Given the description of an element on the screen output the (x, y) to click on. 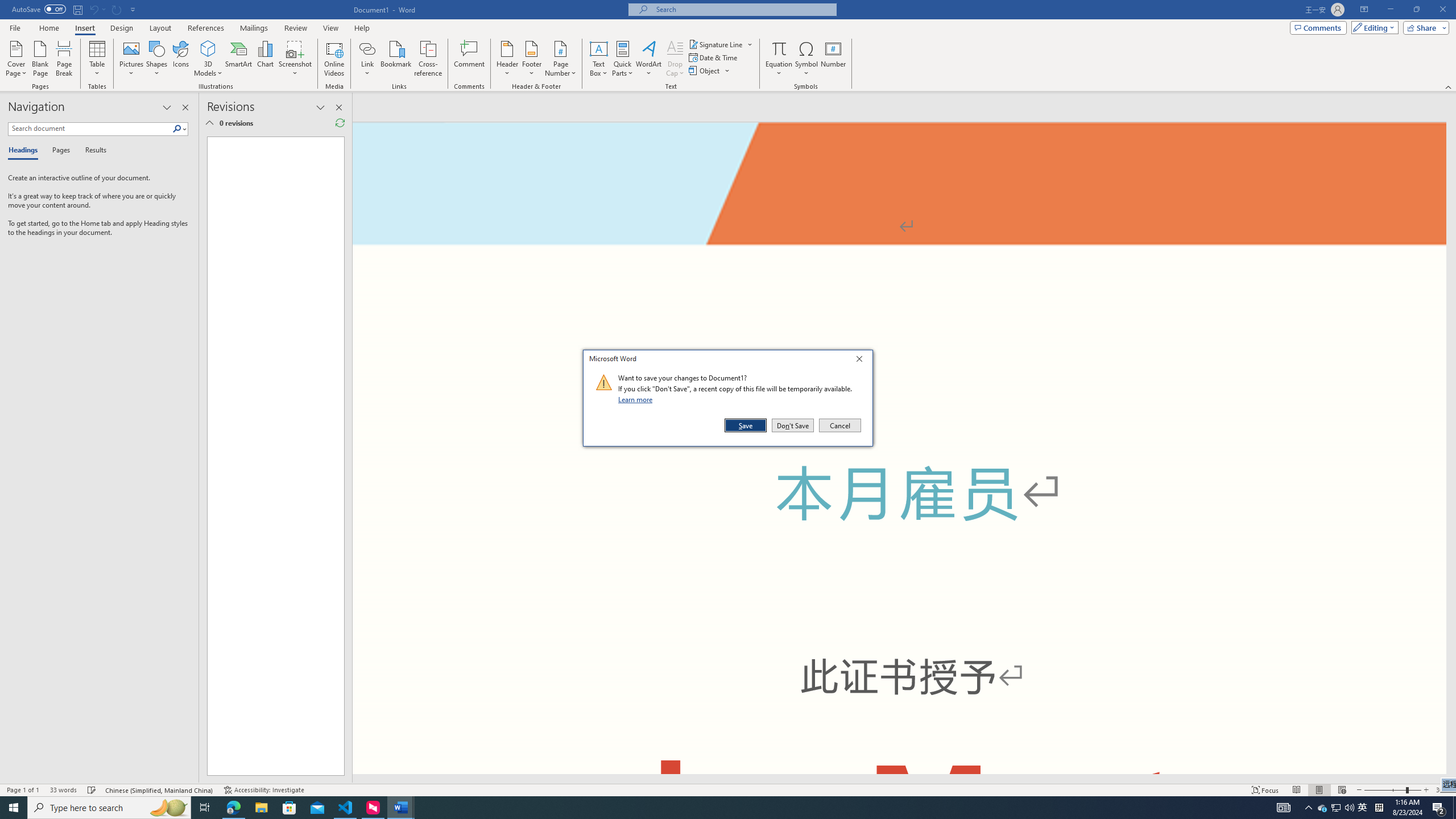
Can't Repeat (117, 9)
Object... (709, 69)
Can't Undo (96, 9)
Blank Page (40, 58)
Text Box (598, 58)
Word - 2 running windows (400, 807)
Equation (778, 58)
